Given the description of an element on the screen output the (x, y) to click on. 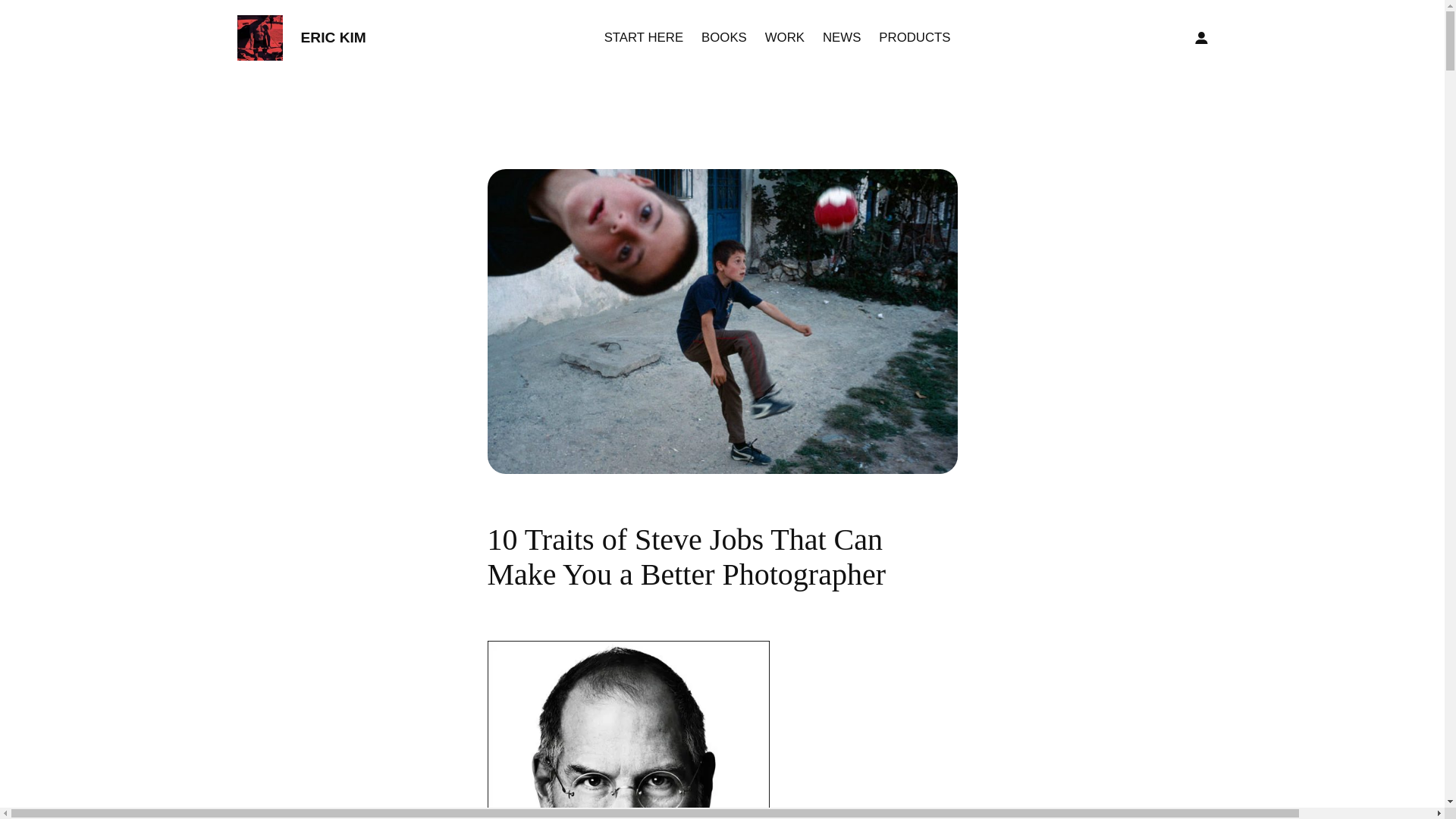
PRODUCTS (914, 37)
START HERE (643, 37)
Workshops (785, 37)
ERIC KIM (332, 37)
Start here (643, 37)
Shop (914, 37)
steve-jobs (627, 729)
NEWS (841, 37)
WORK (785, 37)
Books (723, 37)
